Given the description of an element on the screen output the (x, y) to click on. 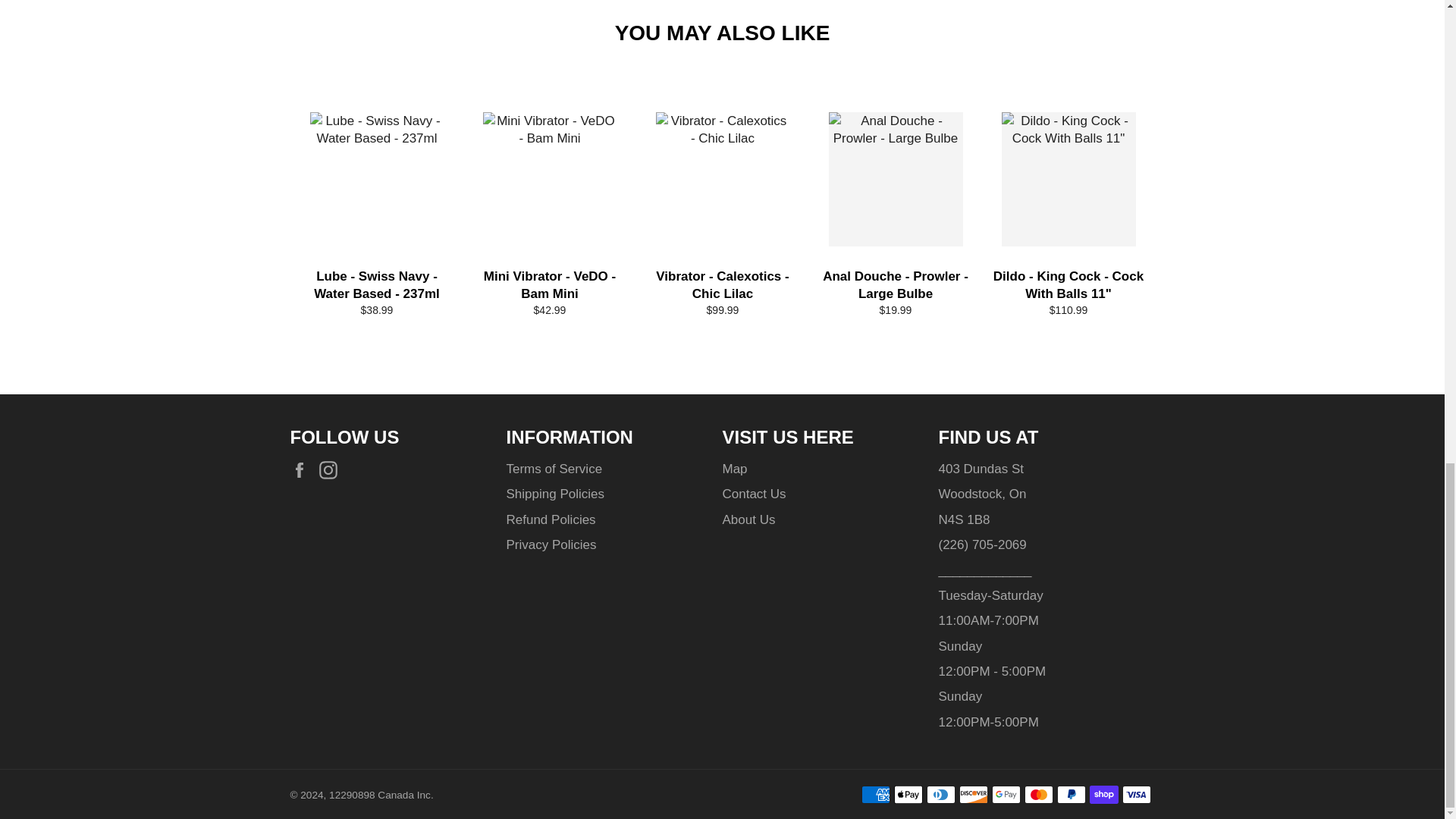
12290898 Canada Inc on Instagram (331, 469)
12290898 Canada Inc on Facebook (302, 469)
Privacy Policy (551, 544)
Terms of Service (554, 468)
About Us (748, 519)
Refund Policy (550, 519)
Shipping Policy (555, 493)
Contact Us (754, 493)
